Given the description of an element on the screen output the (x, y) to click on. 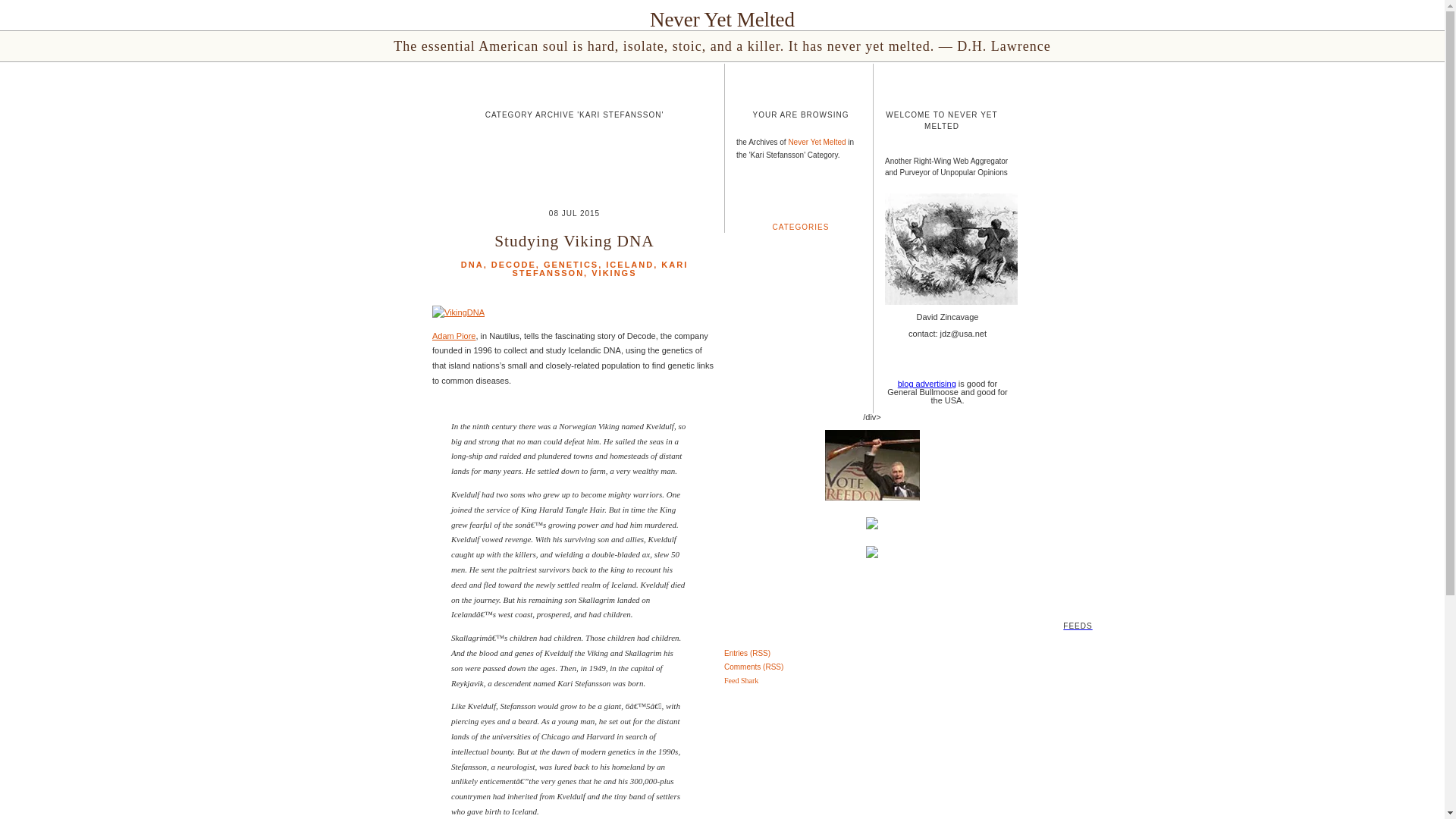
Never Yet Melted (816, 142)
Studying Viking DNA (574, 240)
DNA (472, 264)
VIKINGS (613, 272)
CATEGORIES (801, 226)
ICELAND (629, 264)
KARI STEFANSSON (600, 268)
DECODE (513, 264)
Feed Shark (740, 680)
blog advertising (927, 383)
